Given the description of an element on the screen output the (x, y) to click on. 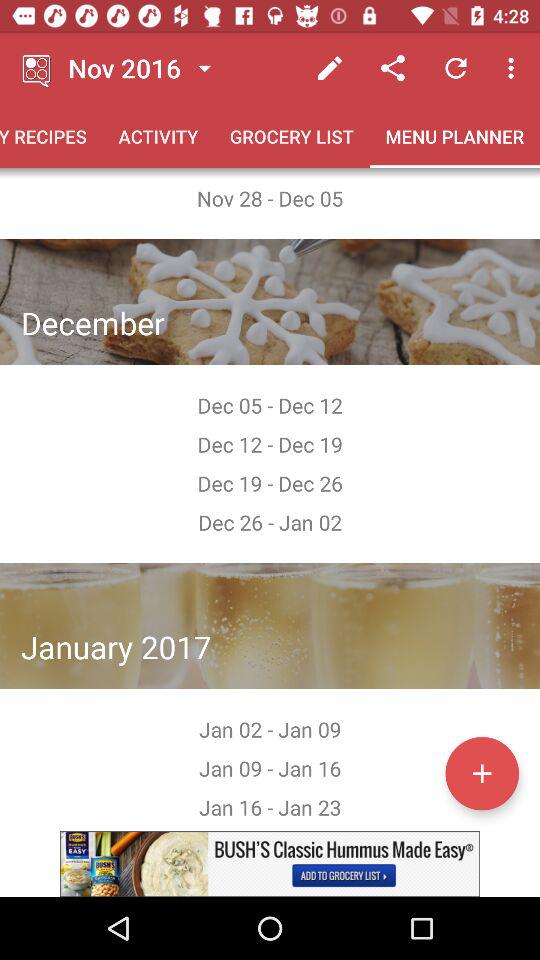
advertisement page (270, 864)
